Given the description of an element on the screen output the (x, y) to click on. 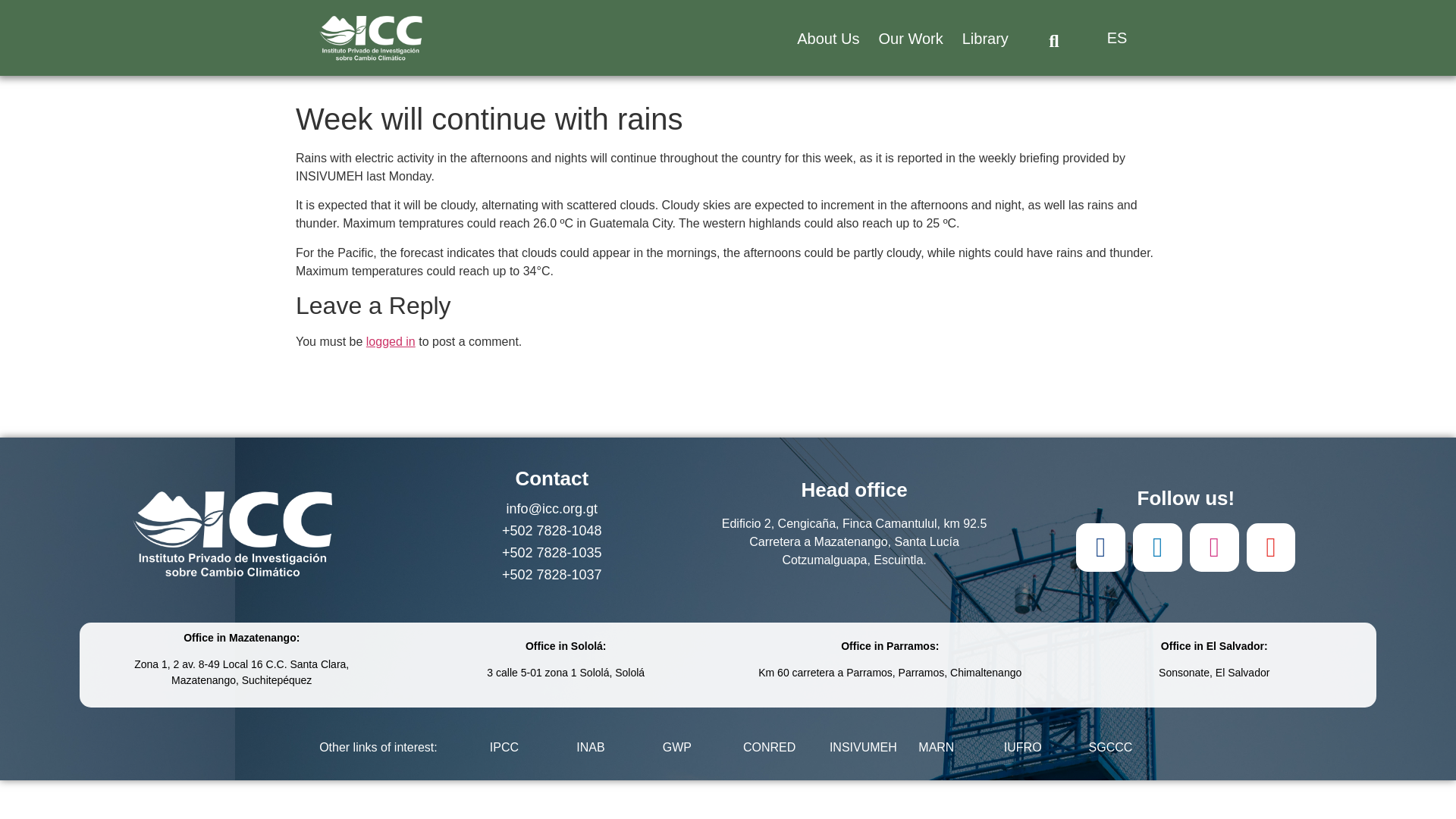
Library (985, 38)
Our Work (910, 38)
ES (1112, 37)
About Us (828, 38)
